Given the description of an element on the screen output the (x, y) to click on. 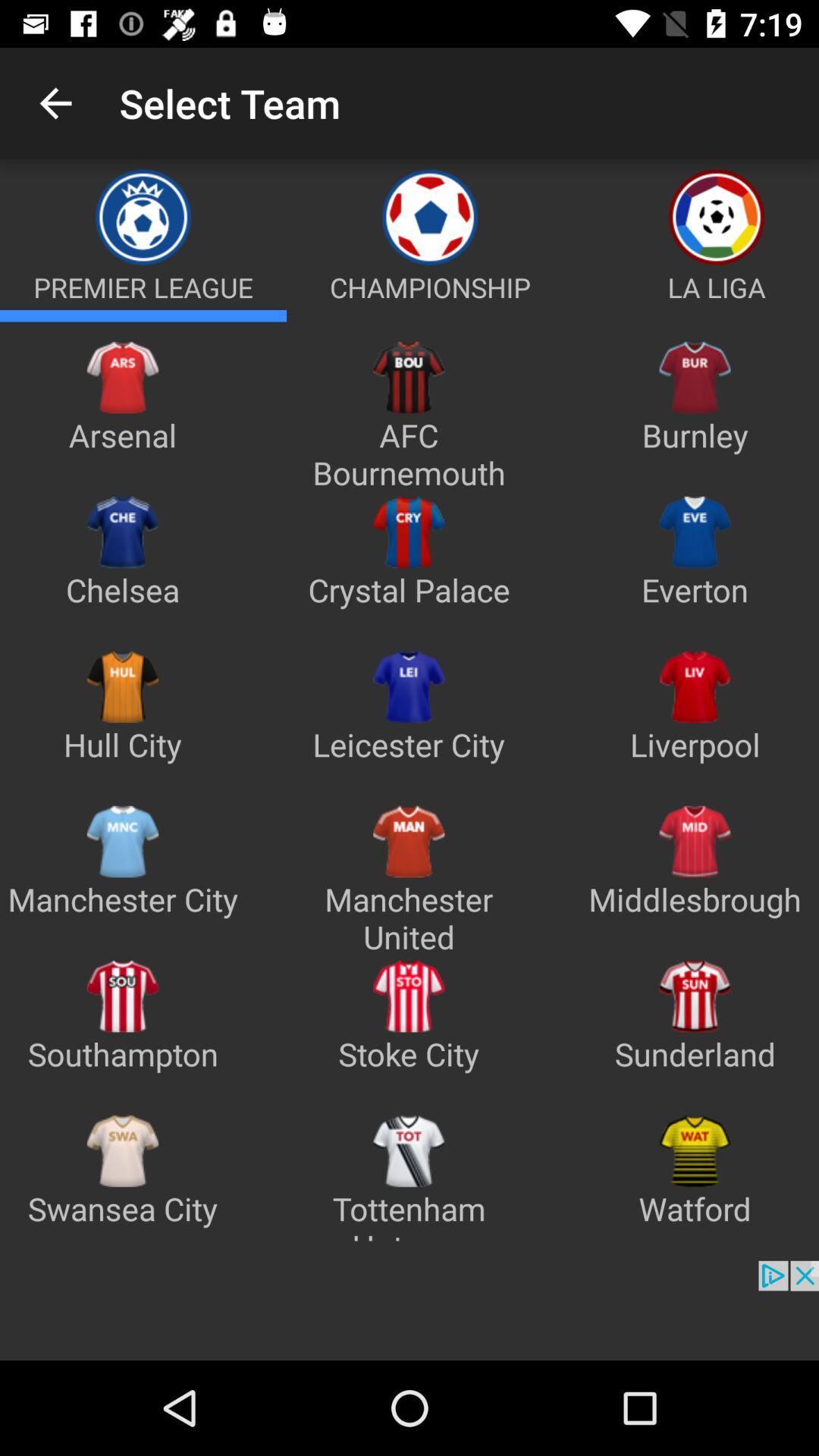
details about advertisement (409, 1310)
